Given the description of an element on the screen output the (x, y) to click on. 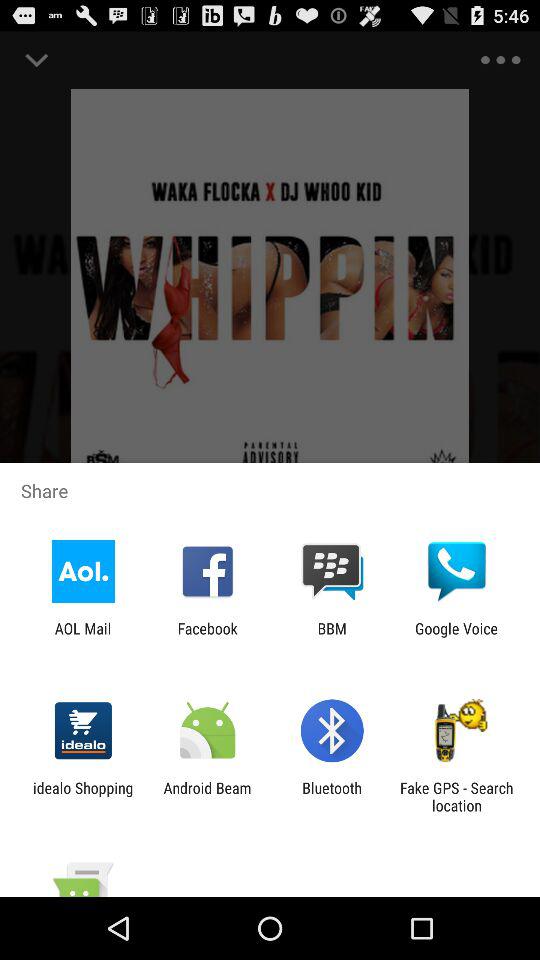
scroll to the aol mail app (82, 637)
